Given the description of an element on the screen output the (x, y) to click on. 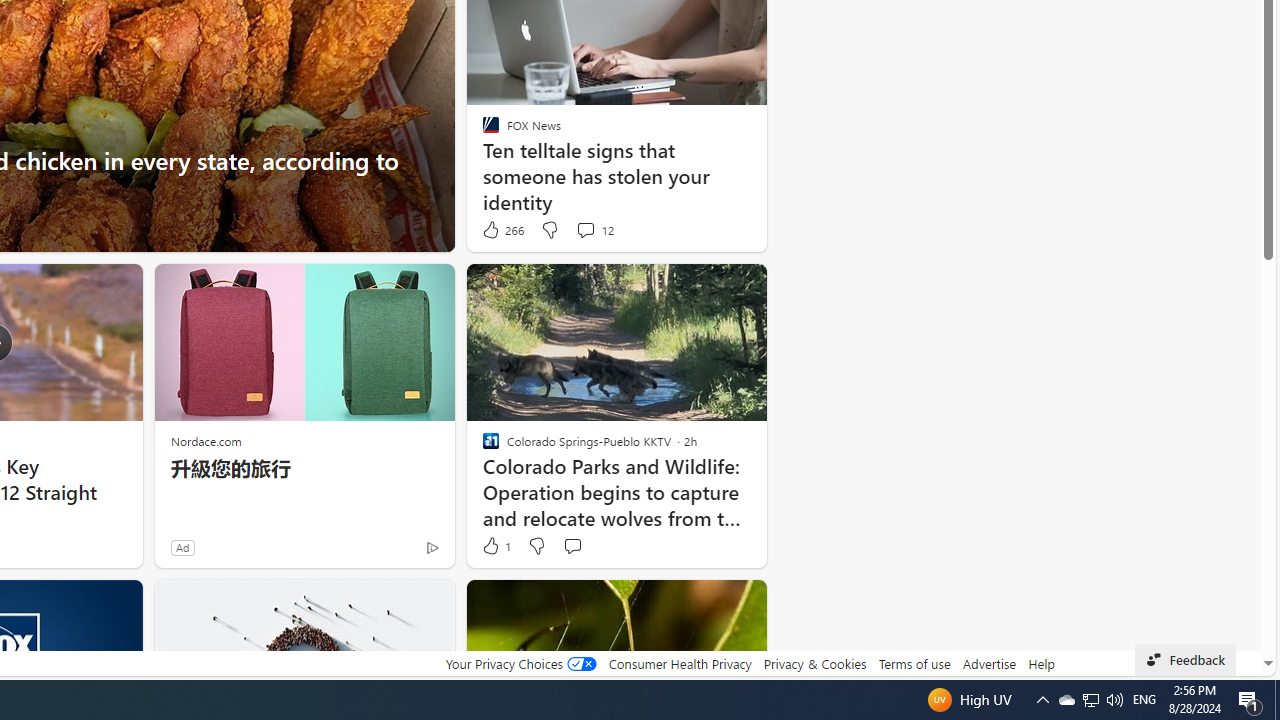
Hide this story (706, 603)
Consumer Health Privacy (680, 663)
266 Like (502, 230)
View comments 12 Comment (585, 229)
